Given the description of an element on the screen output the (x, y) to click on. 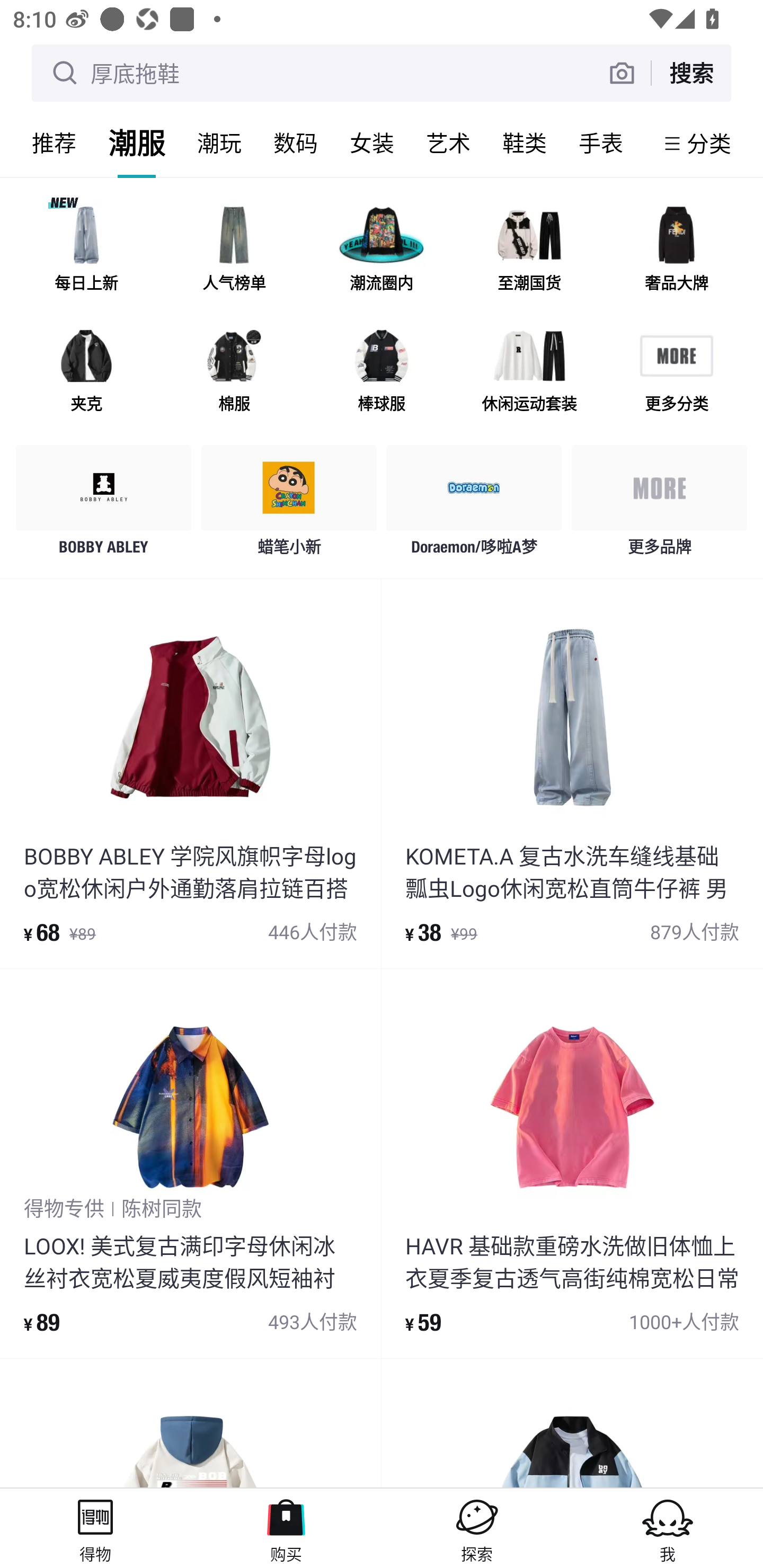
搜索 (690, 72)
推荐 (54, 143)
潮服 (136, 143)
潮玩 (219, 143)
数码 (295, 143)
女装 (372, 143)
艺术 (448, 143)
鞋类 (524, 143)
手表 (601, 143)
分类 (708, 143)
每日上新 (86, 251)
人气榜单 (233, 251)
潮流圈内 (381, 251)
至潮国货 (528, 251)
奢品大牌 (676, 251)
夹克 (86, 372)
棉服 (233, 372)
棒球服 (381, 372)
休闲运动套装 (528, 372)
更多分类 (676, 372)
BOBBY ABLEY (103, 505)
蜡笔小新 (288, 505)
Doraemon/哆啦A梦 (473, 505)
更多品牌 (658, 505)
得物 (95, 1528)
购买 (285, 1528)
探索 (476, 1528)
我 (667, 1528)
